Given the description of an element on the screen output the (x, y) to click on. 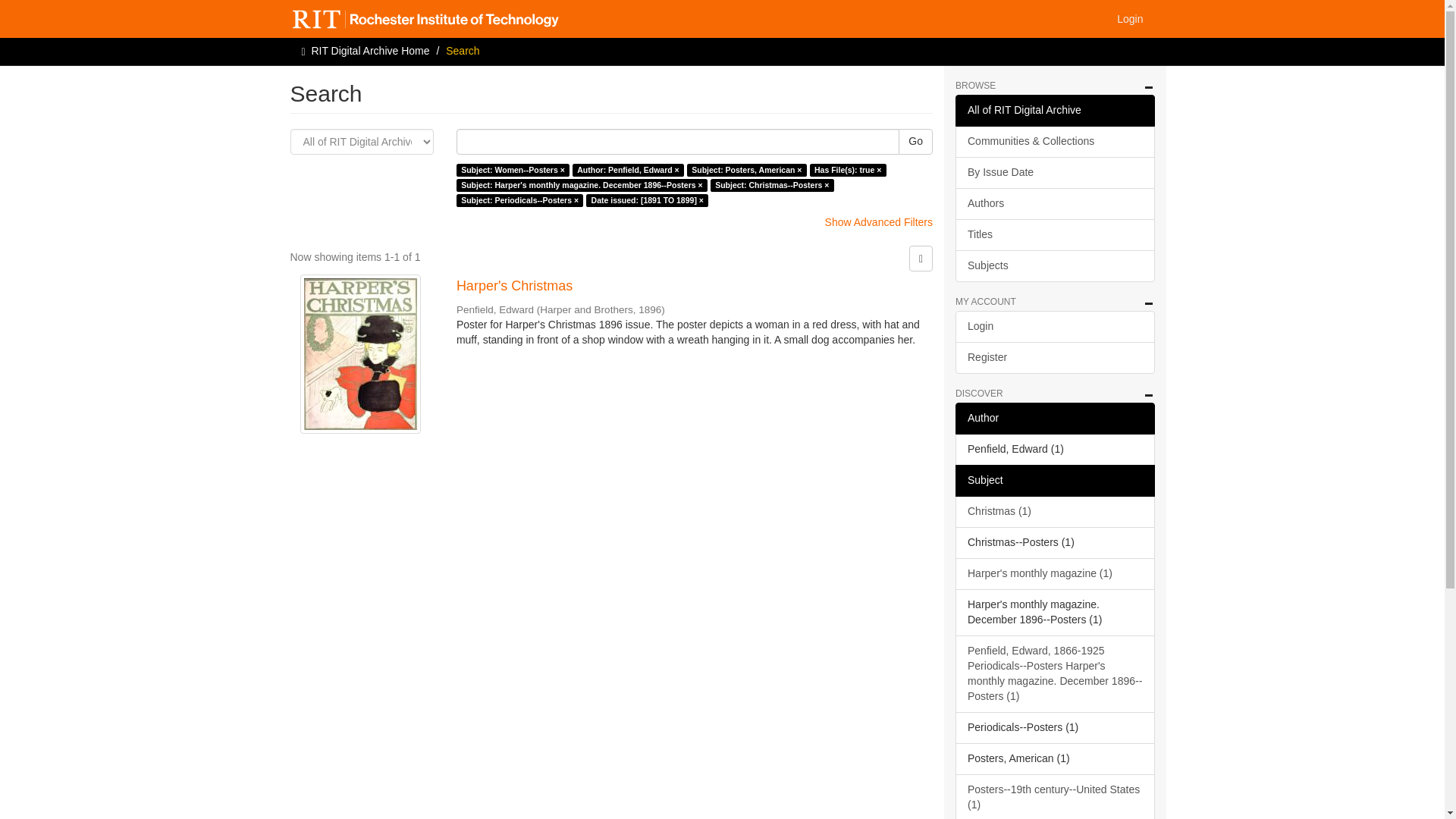
Go (915, 141)
Show Advanced Filters (879, 222)
RIT Digital Archive Home (370, 50)
Login (1129, 18)
